Given the description of an element on the screen output the (x, y) to click on. 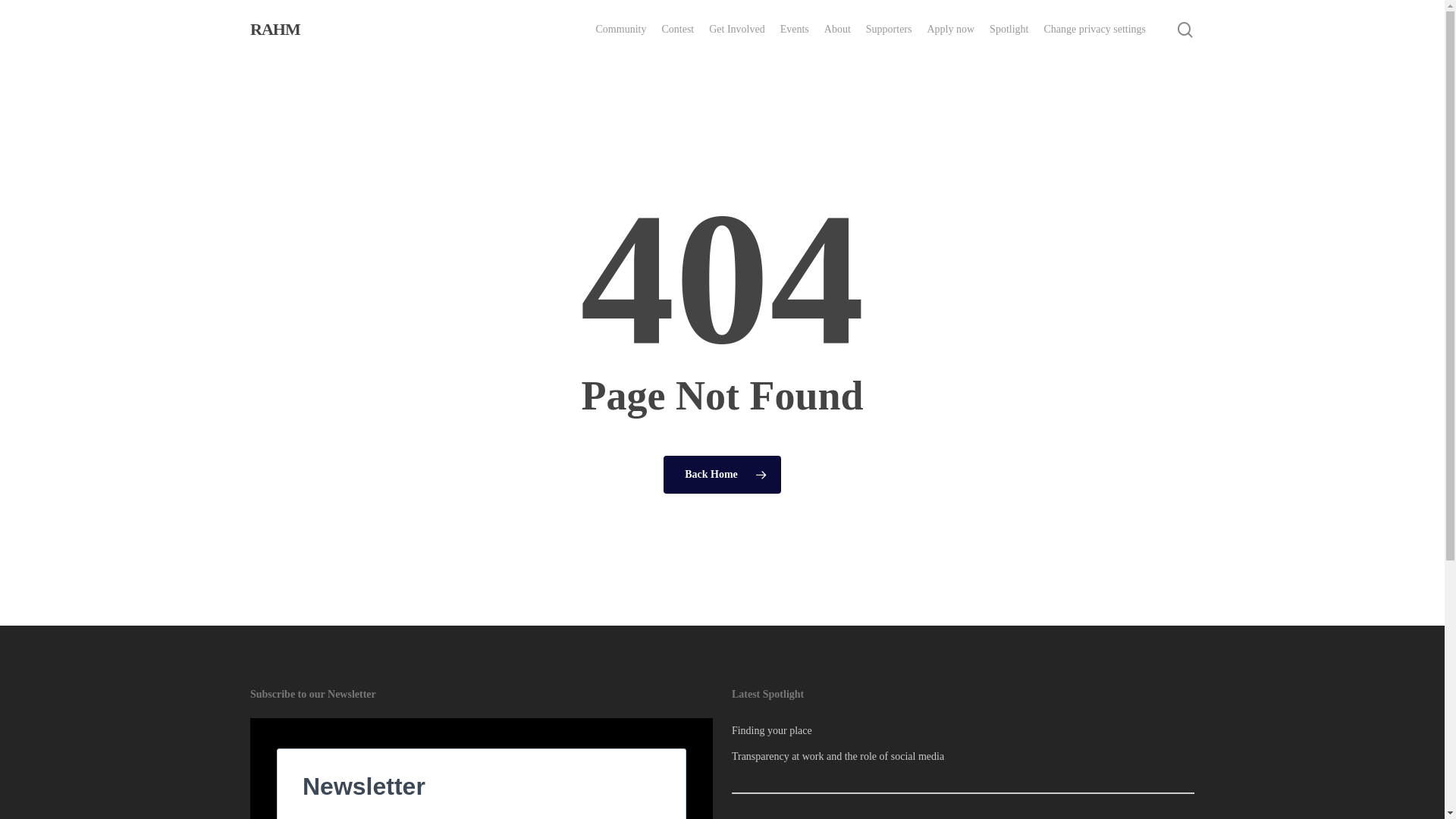
Change privacy settings Element type: text (1094, 29)
Finding your place Element type: text (962, 730)
Community Element type: text (621, 29)
Apply now Element type: text (950, 29)
search Element type: text (1185, 29)
Transparency at work and the role of social media Element type: text (962, 756)
Get Involved Element type: text (736, 29)
About Element type: text (837, 29)
Back Home Element type: text (722, 473)
Events Element type: text (794, 29)
Spotlight Element type: text (1008, 29)
RAHM Element type: text (275, 29)
Contest Element type: text (677, 29)
Supporters Element type: text (889, 29)
